Given the description of an element on the screen output the (x, y) to click on. 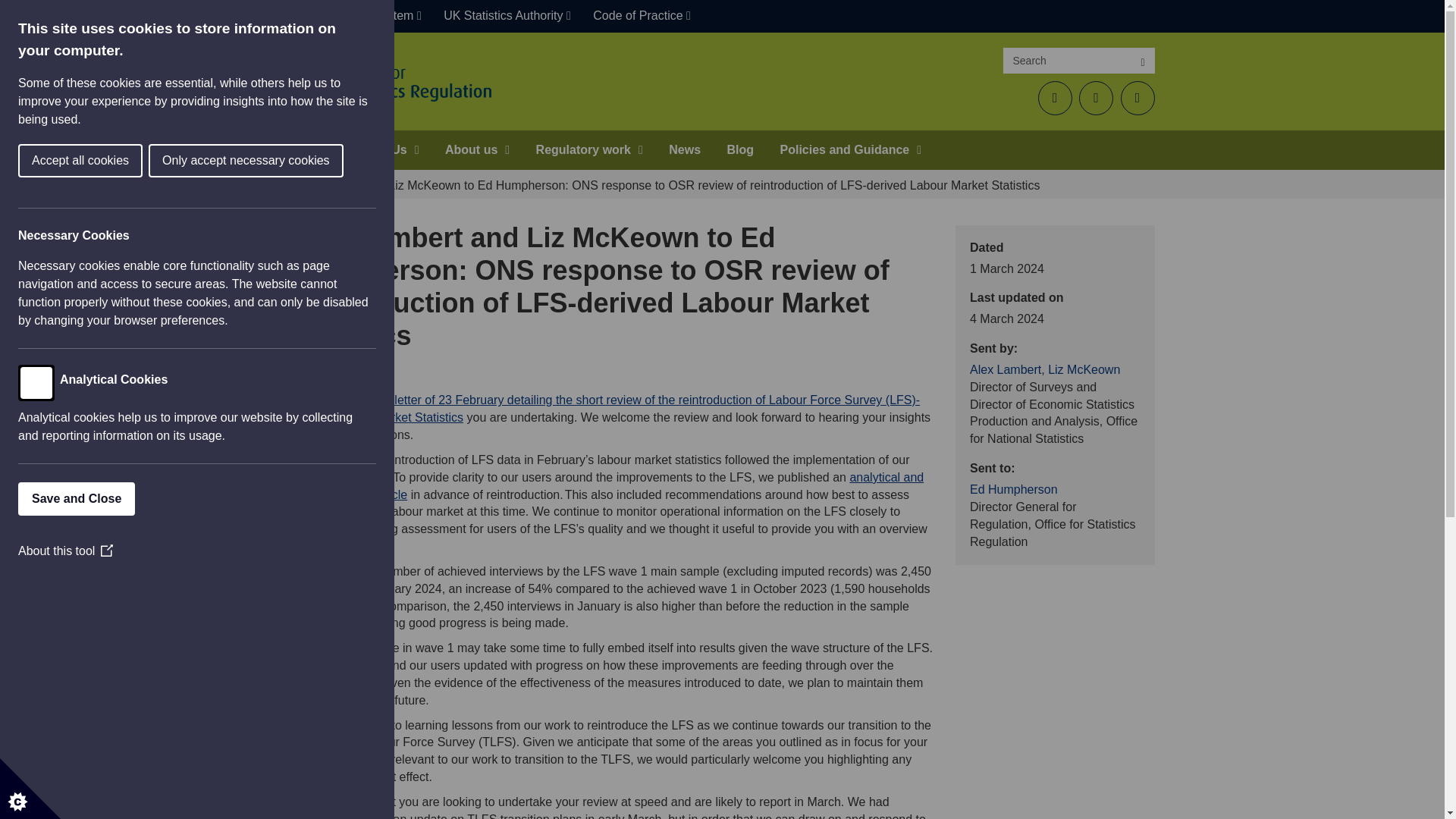
Search (1142, 60)
LinkedIn (1095, 98)
RSS Feed (1137, 98)
Only accept necessary cookies (18, 160)
Home (306, 149)
UK Statistical System (358, 16)
Talk to Us (383, 149)
UK Statistics Authority (506, 16)
About us (477, 149)
Code of Practice (641, 16)
Regulatory work (588, 149)
Blog (740, 149)
Twitter (1054, 98)
News (684, 149)
Policies and Guidance (850, 149)
